Given the description of an element on the screen output the (x, y) to click on. 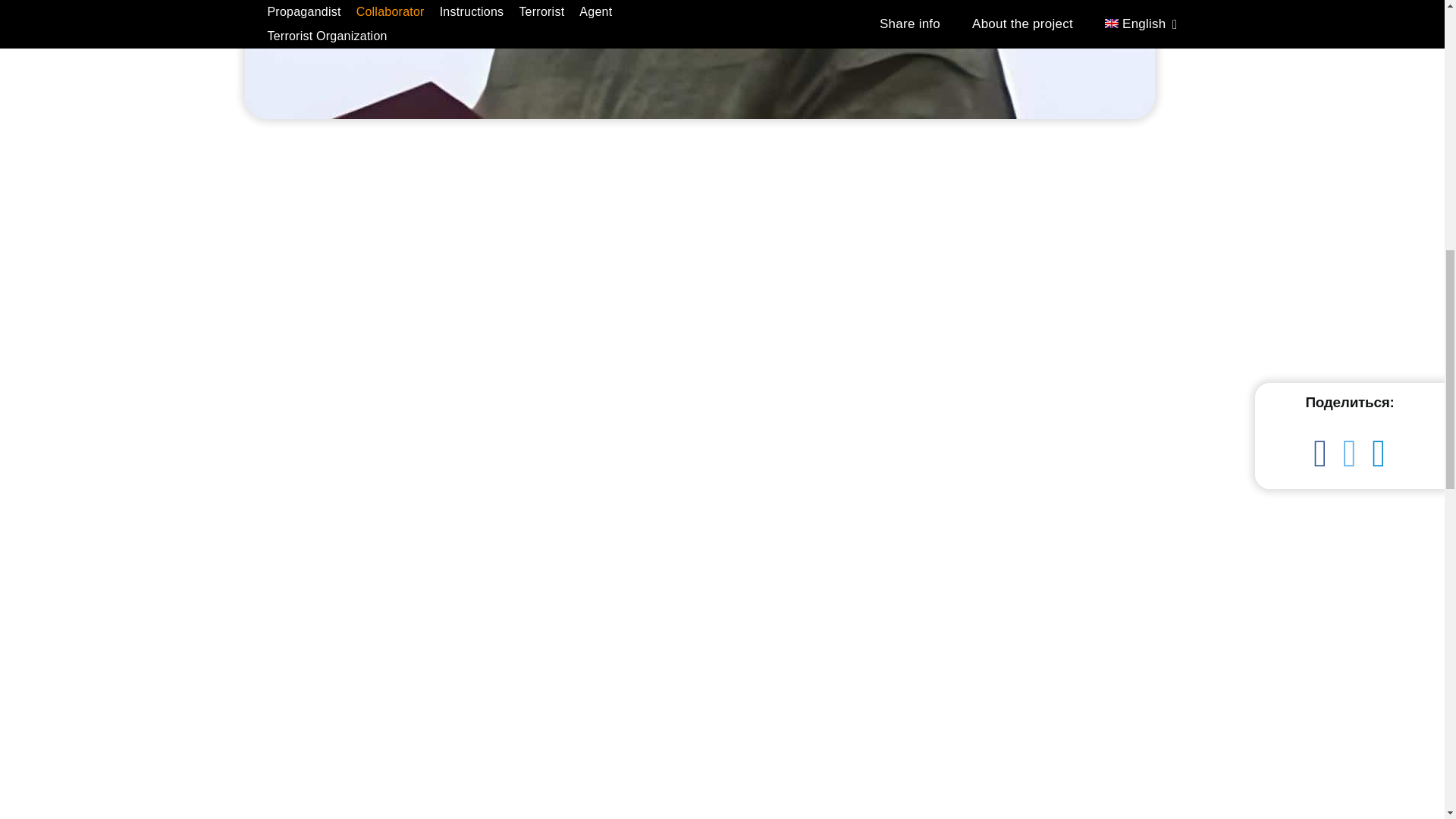
000000 (699, 59)
